Given the description of an element on the screen output the (x, y) to click on. 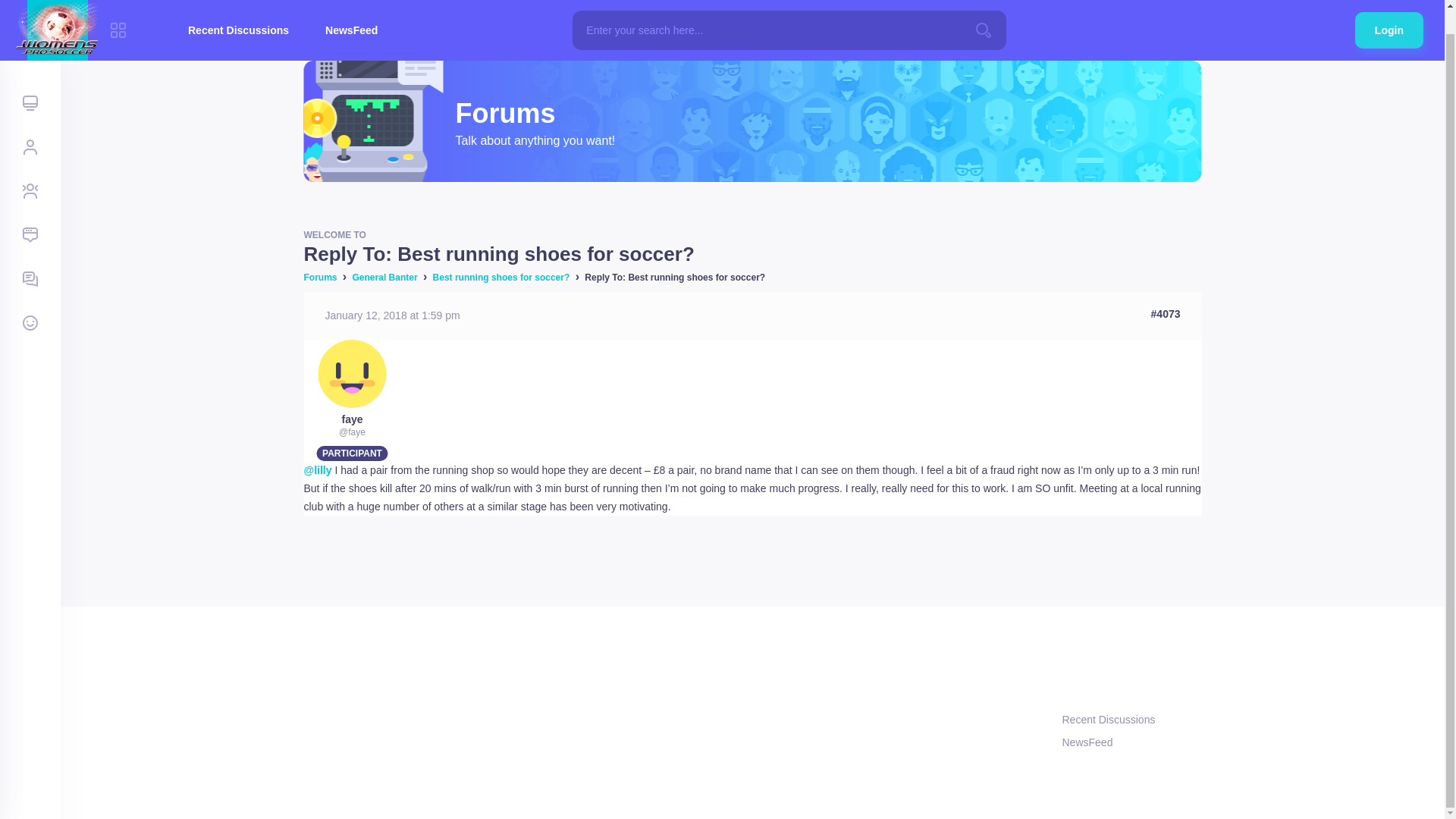
Forums (319, 276)
faye (351, 419)
NewsFeed (351, 18)
NewsFeed (1131, 742)
Best running shoes for soccer? (501, 276)
Recent Discussions (238, 18)
Login (1389, 12)
General Banter (384, 276)
Recent Discussions (1131, 719)
